Given the description of an element on the screen output the (x, y) to click on. 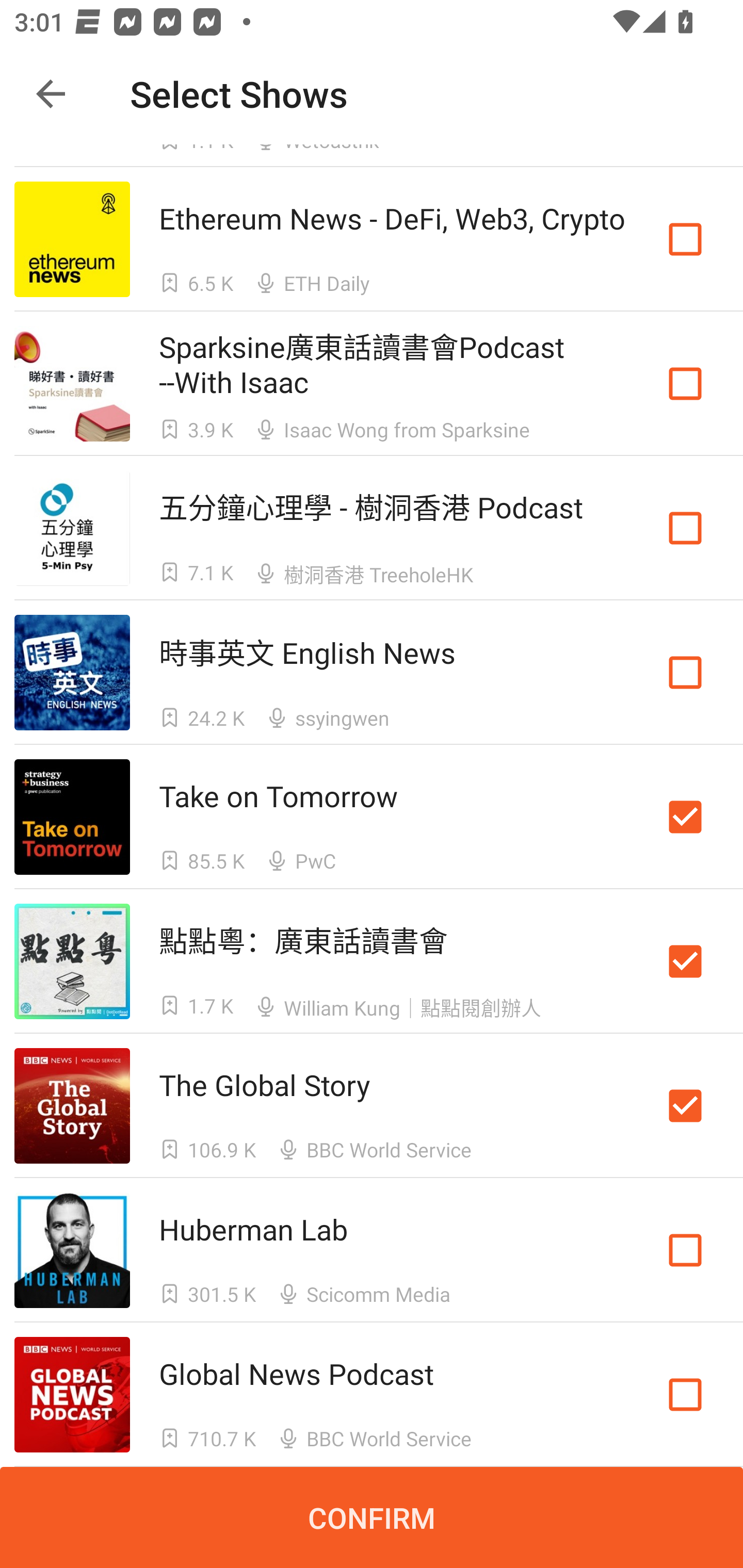
Navigate up (50, 93)
Take on Tomorrow Take on Tomorrow  85.5 K  PwC (371, 816)
CONFIRM (371, 1517)
